Given the description of an element on the screen output the (x, y) to click on. 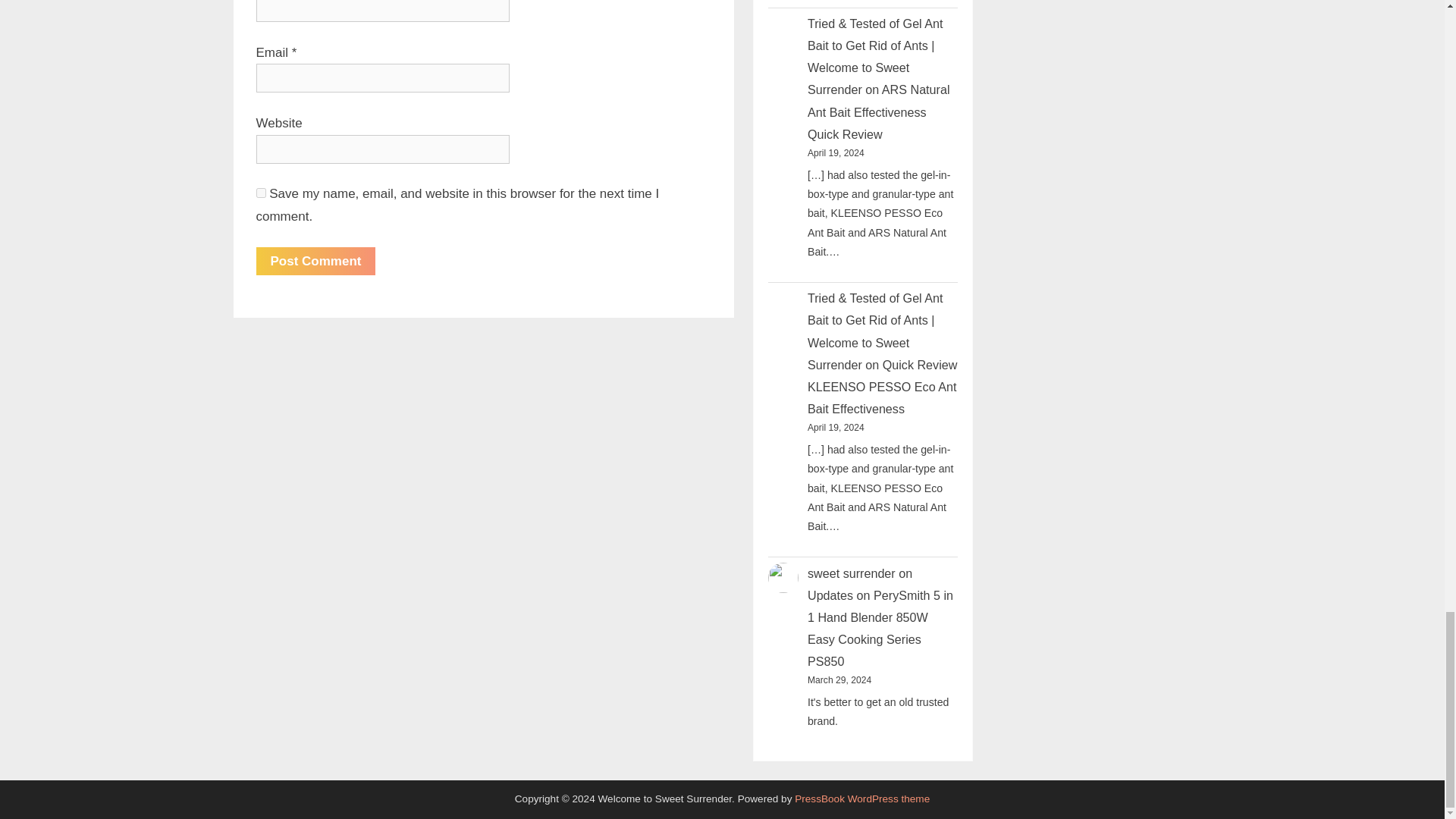
Post Comment (315, 261)
Post Comment (315, 261)
yes (261, 193)
